Given the description of an element on the screen output the (x, y) to click on. 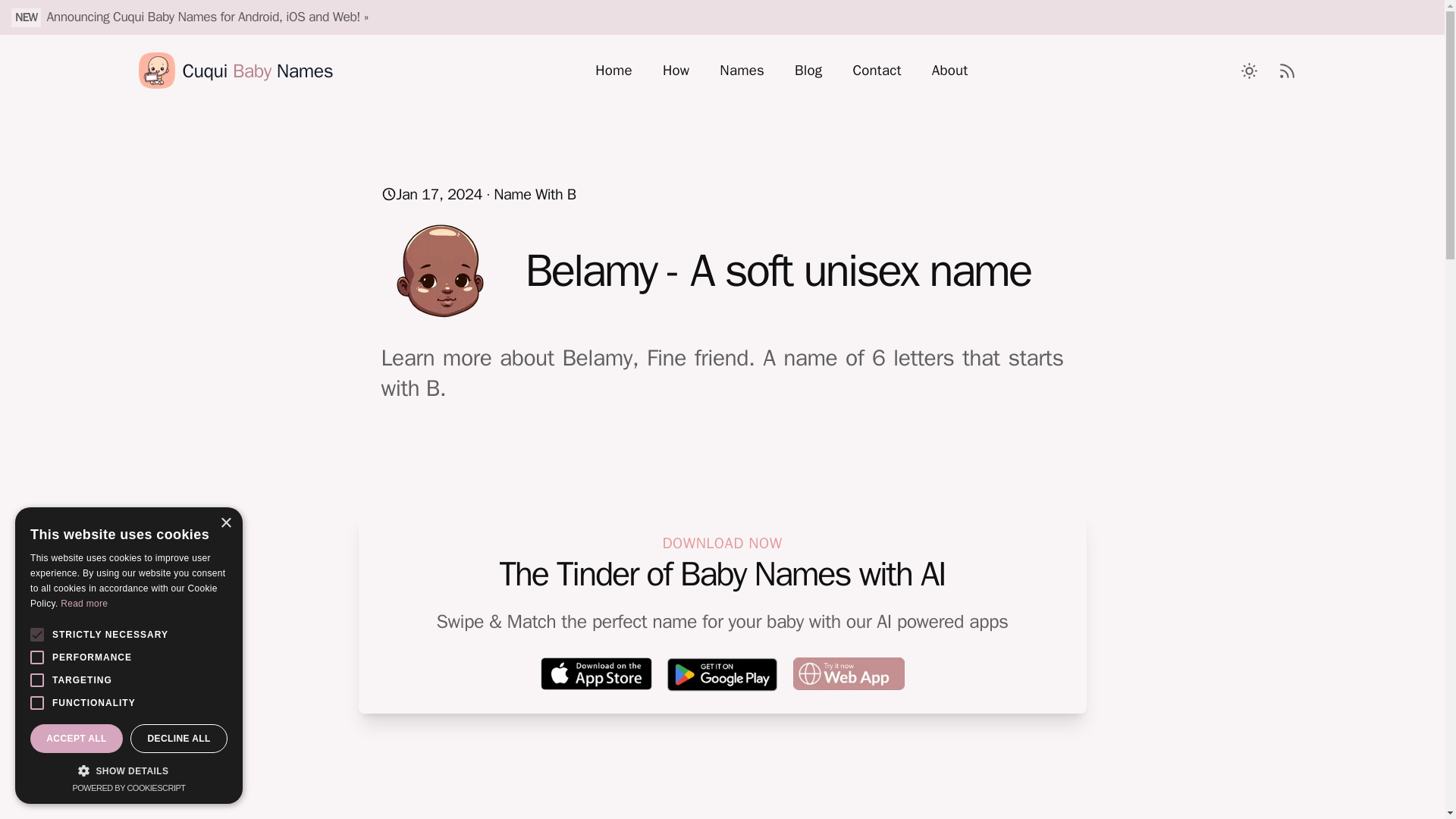
Consent Management Platform (127, 787)
About (950, 70)
Name With B (534, 194)
How (675, 70)
Blog (807, 70)
Cuqui Baby Names (235, 70)
Home (613, 70)
Contact (876, 70)
Names (741, 70)
